Given the description of an element on the screen output the (x, y) to click on. 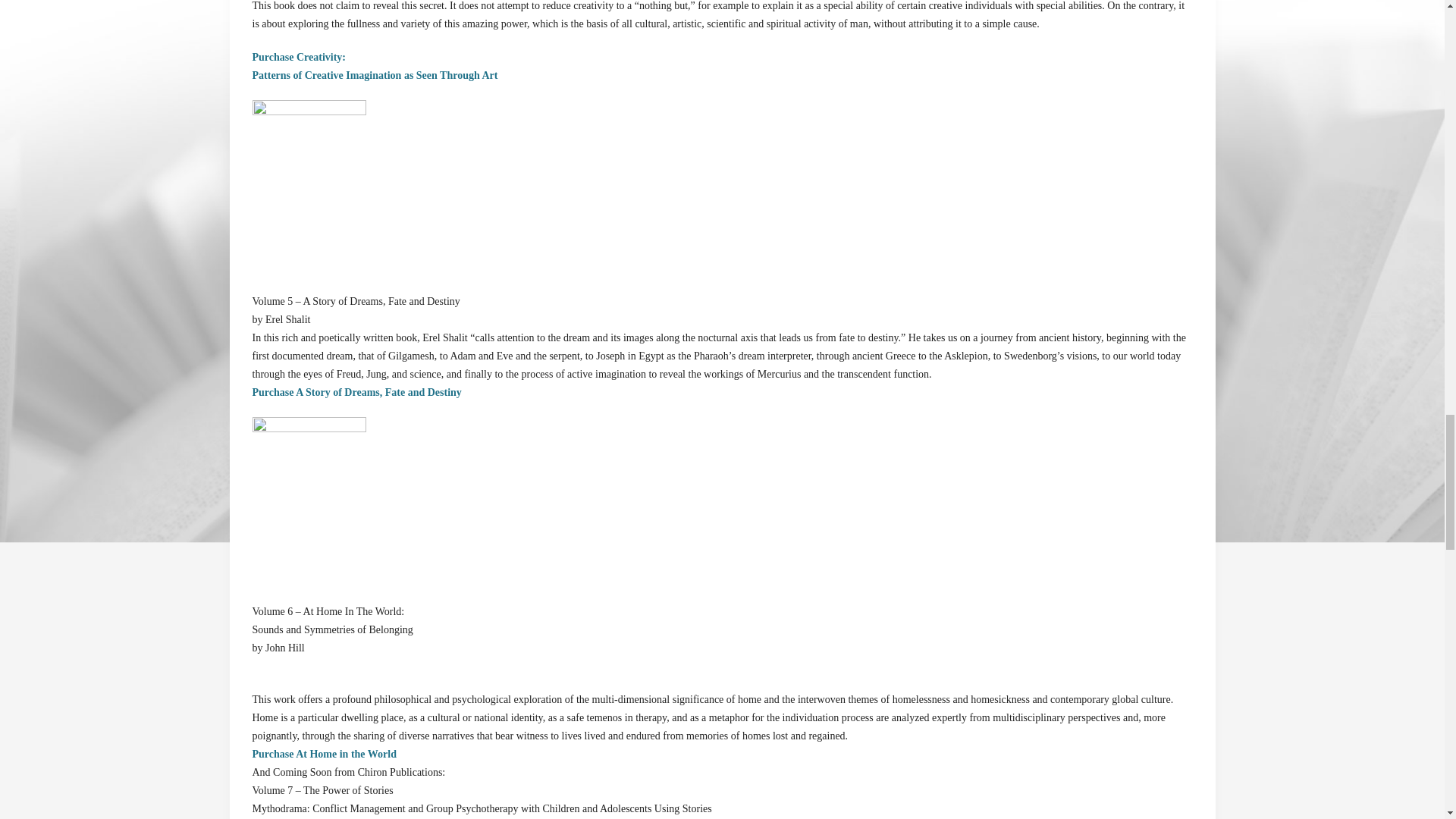
At Home in the World (308, 501)
Purchase A Story of Dreams, Fate and Destiny (356, 392)
A Story of Dreams, Fate and Destiny (308, 187)
Purchase At Home in the World (323, 754)
Purchase Creativity (374, 66)
